Given the description of an element on the screen output the (x, y) to click on. 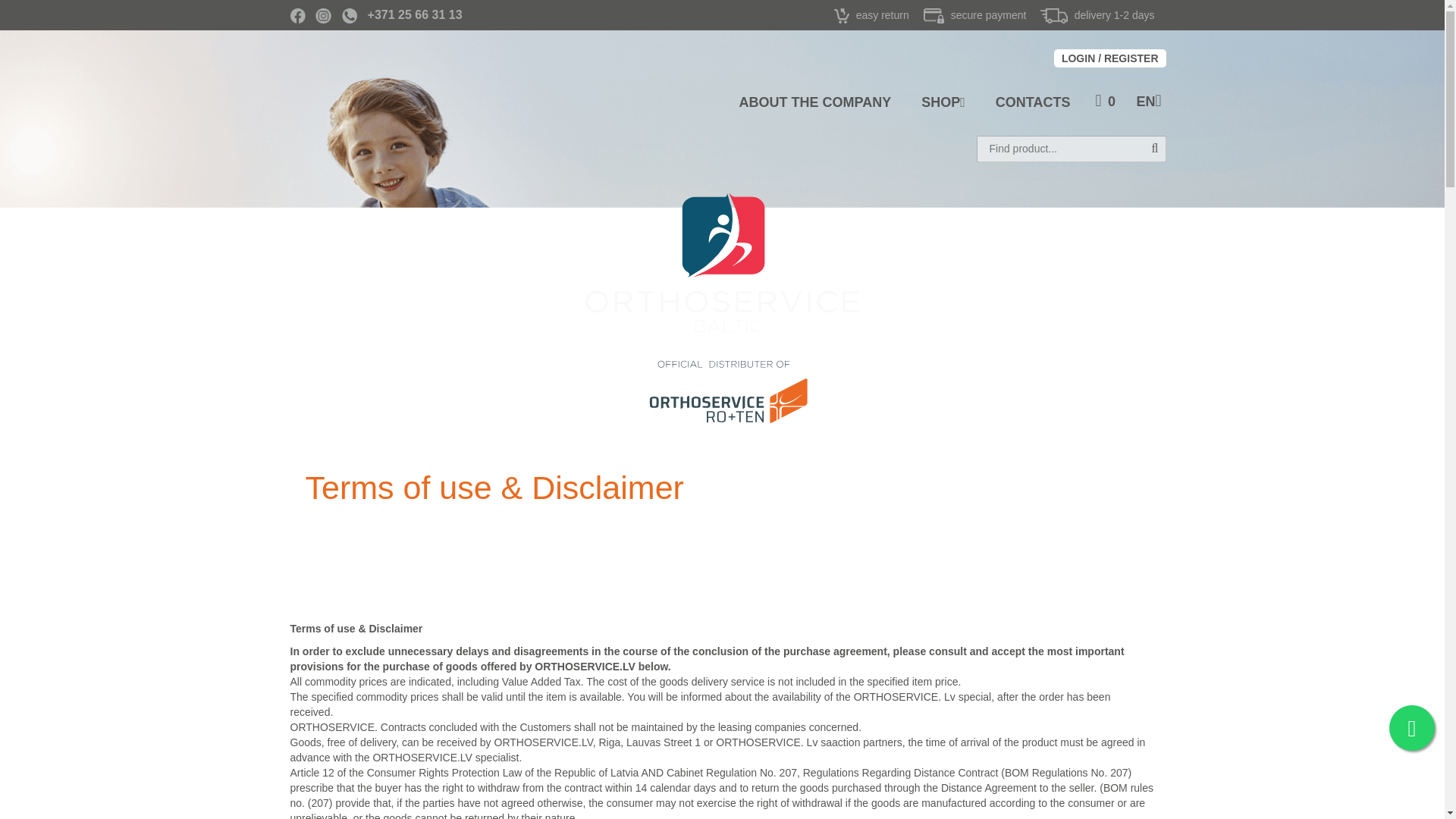
ABOUT THE COMPANY (815, 102)
CONTACTS (1032, 102)
0 (1106, 101)
SHOP (943, 102)
EN (1147, 101)
